Given the description of an element on the screen output the (x, y) to click on. 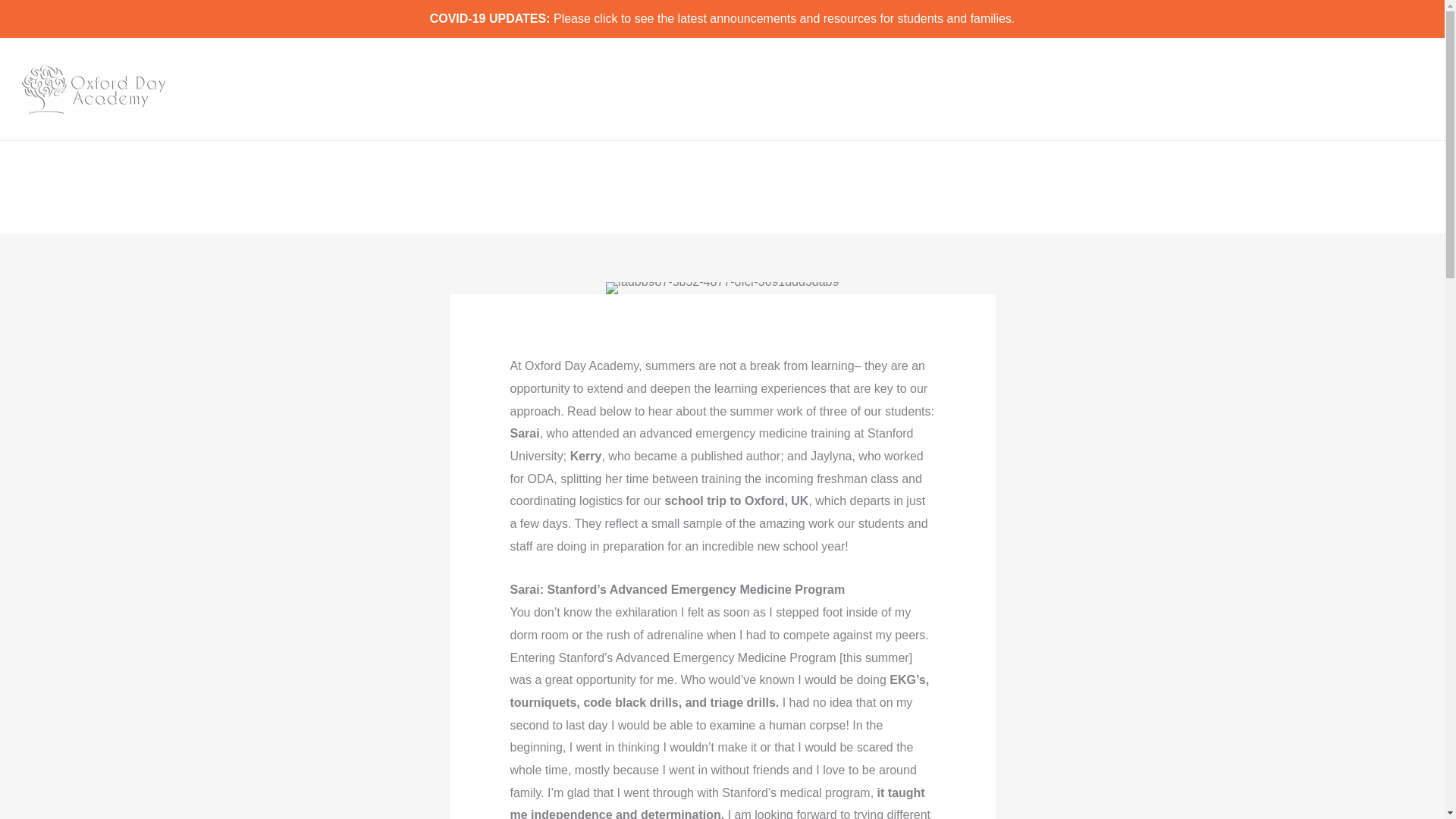
Home (905, 88)
fadbb987-5b52-4877-8fcf-3691ddd3dab9 (722, 287)
Academics (1047, 88)
About (967, 88)
